Given the description of an element on the screen output the (x, y) to click on. 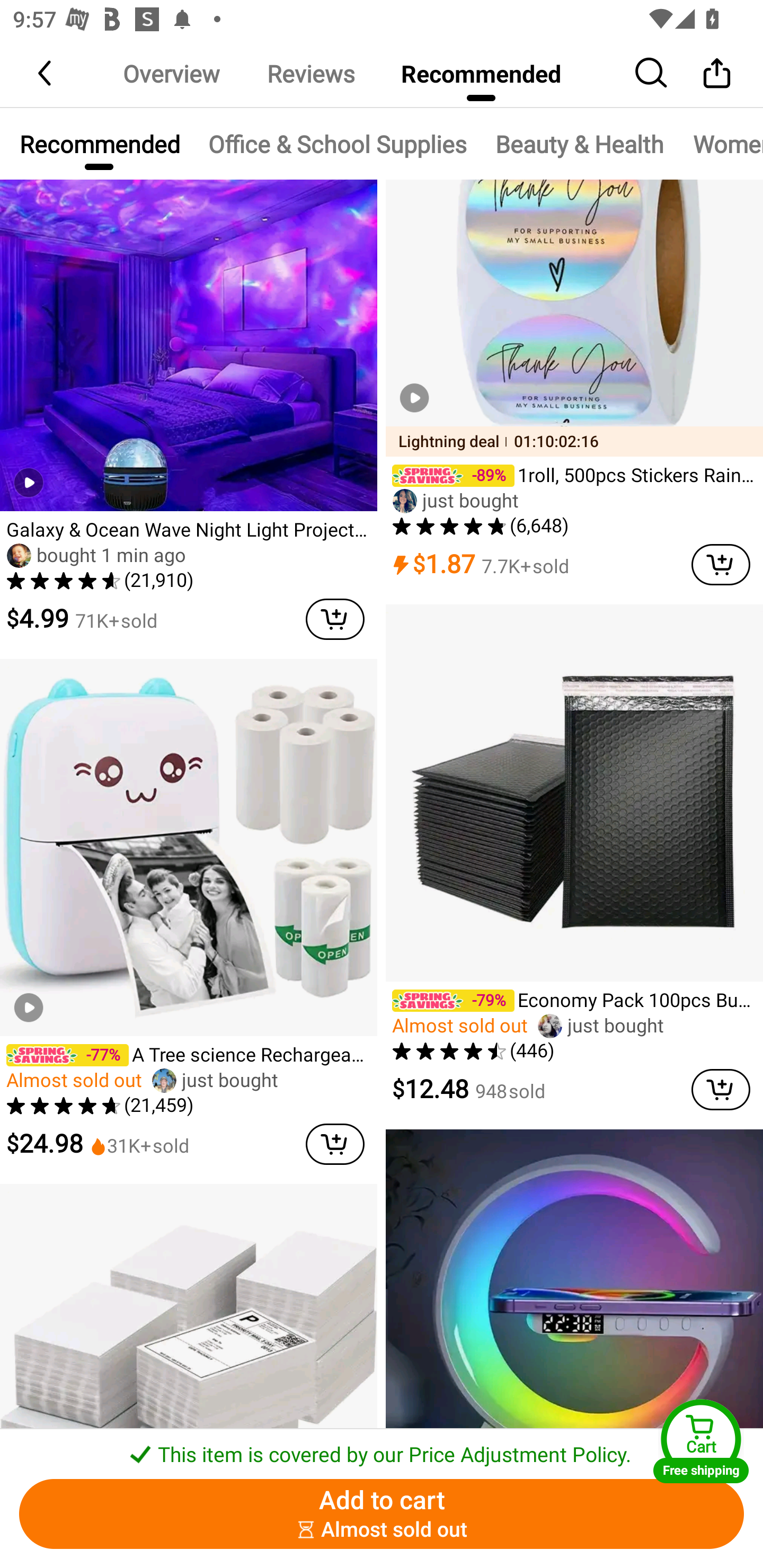
Overview (171, 72)
Reviews (310, 72)
Recommended (480, 72)
Back (46, 72)
Share (716, 72)
Recommended (98, 144)
Office & School Supplies (337, 144)
Beauty & Health (579, 144)
cart delete (720, 564)
cart delete (334, 618)
cart delete (720, 1089)
cart delete (334, 1144)
Cart Free shipping Cart (701, 1440)
Add to cart ￼￼Almost sold out (381, 1513)
